Given the description of an element on the screen output the (x, y) to click on. 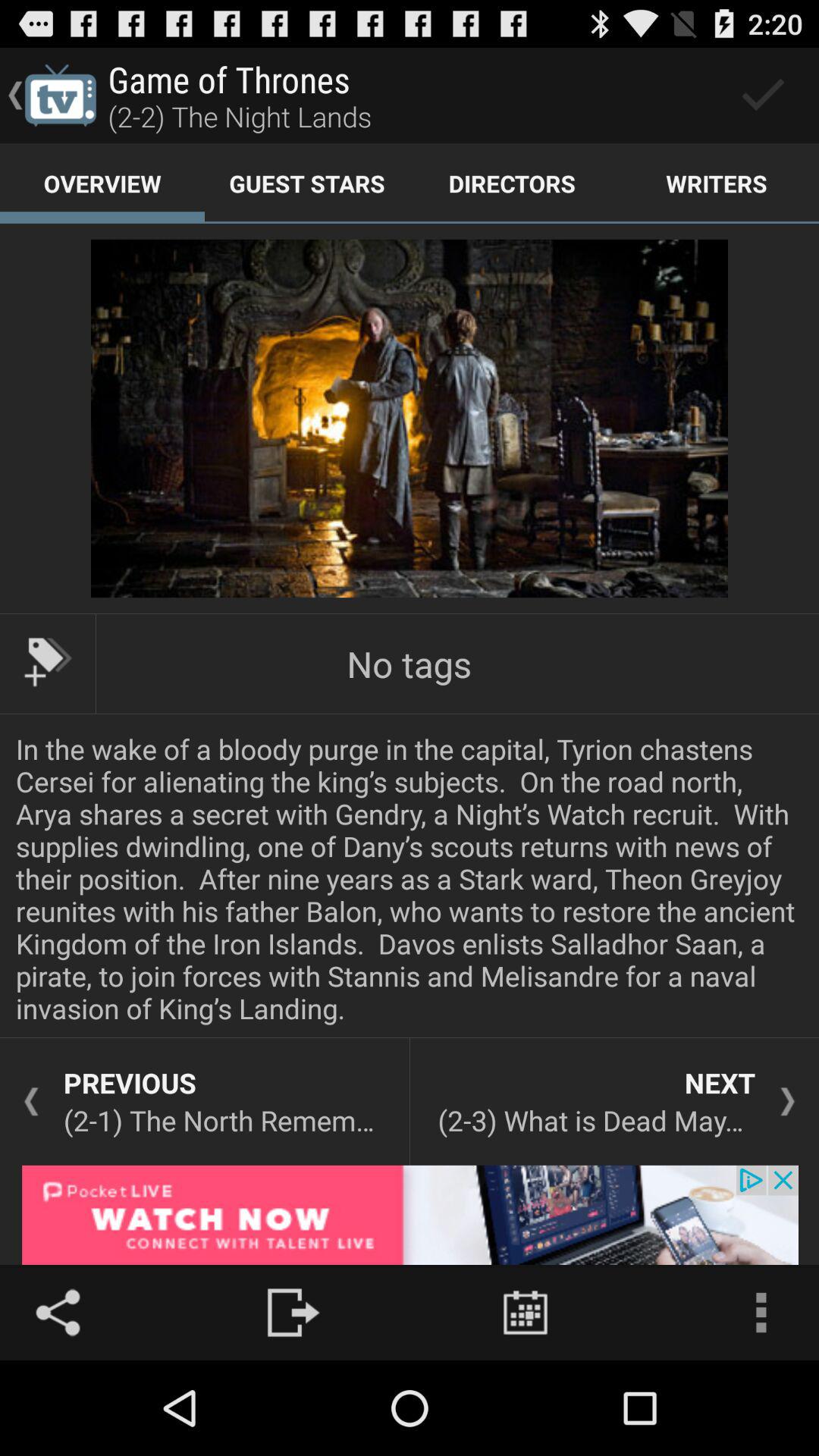
open chosen picture (409, 418)
